Given the description of an element on the screen output the (x, y) to click on. 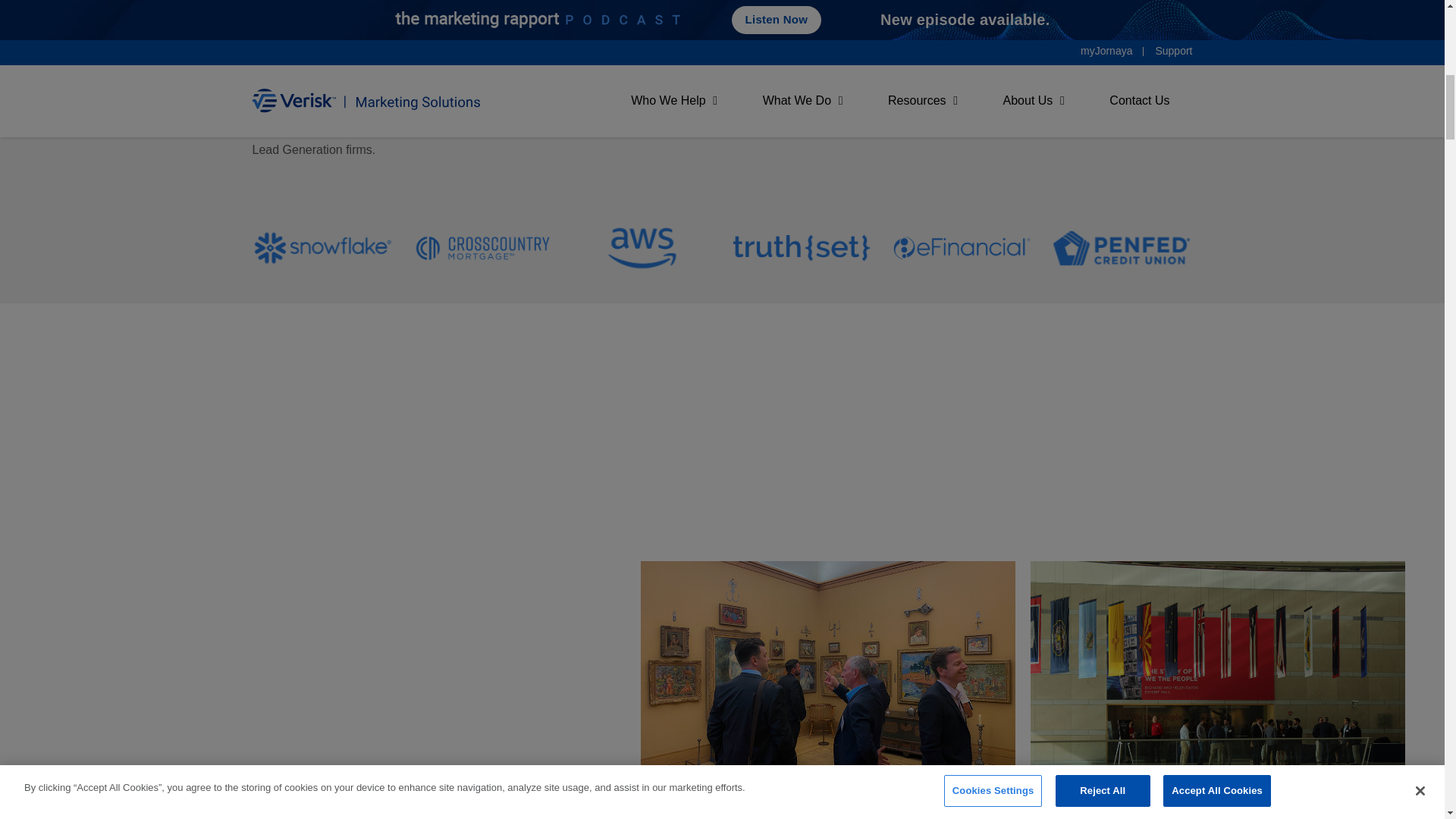
Verisk Marketing Solutions (322, 77)
